Given the description of an element on the screen output the (x, y) to click on. 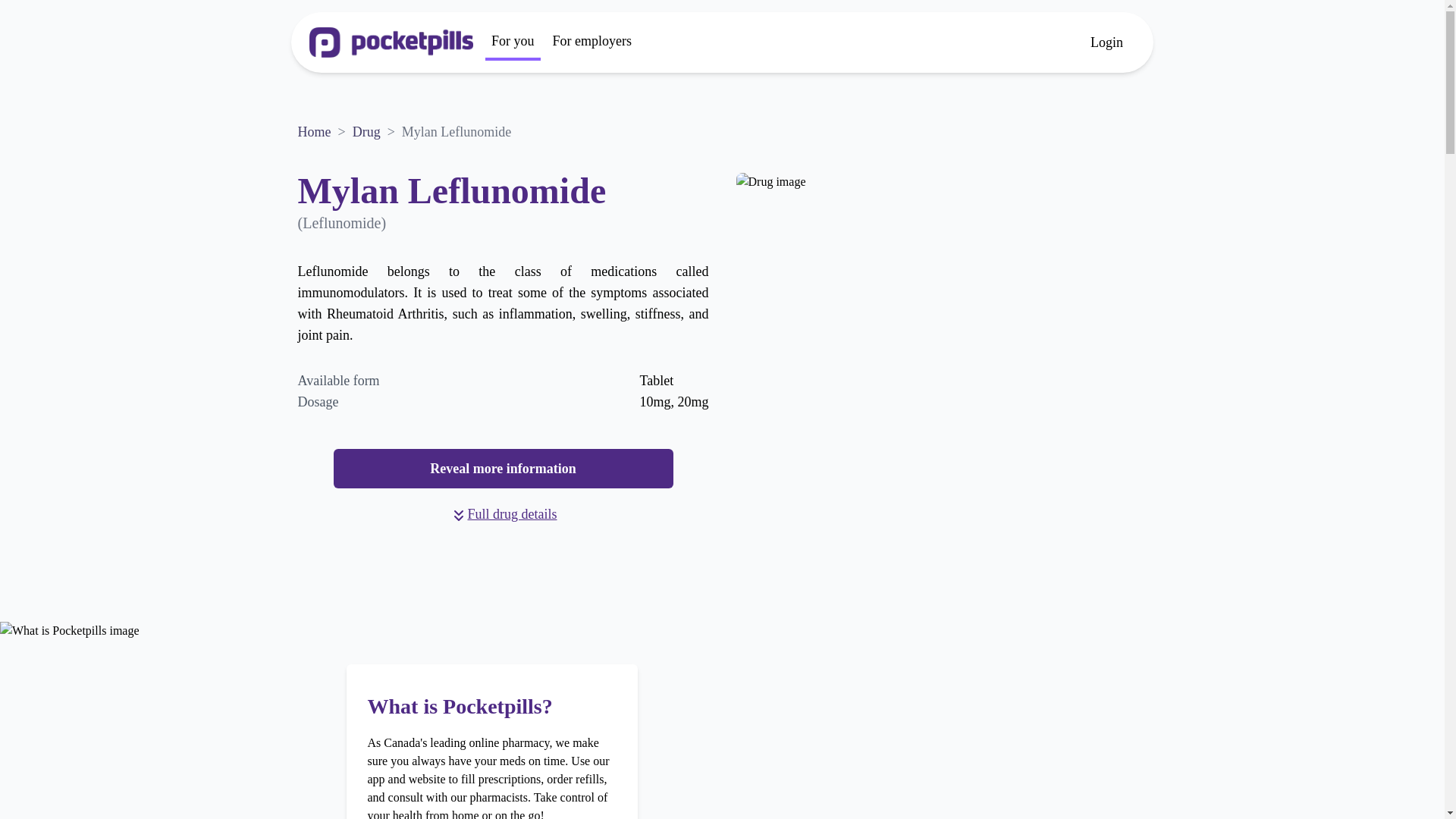
Home (313, 131)
For employers (592, 42)
For you (512, 42)
